Given the description of an element on the screen output the (x, y) to click on. 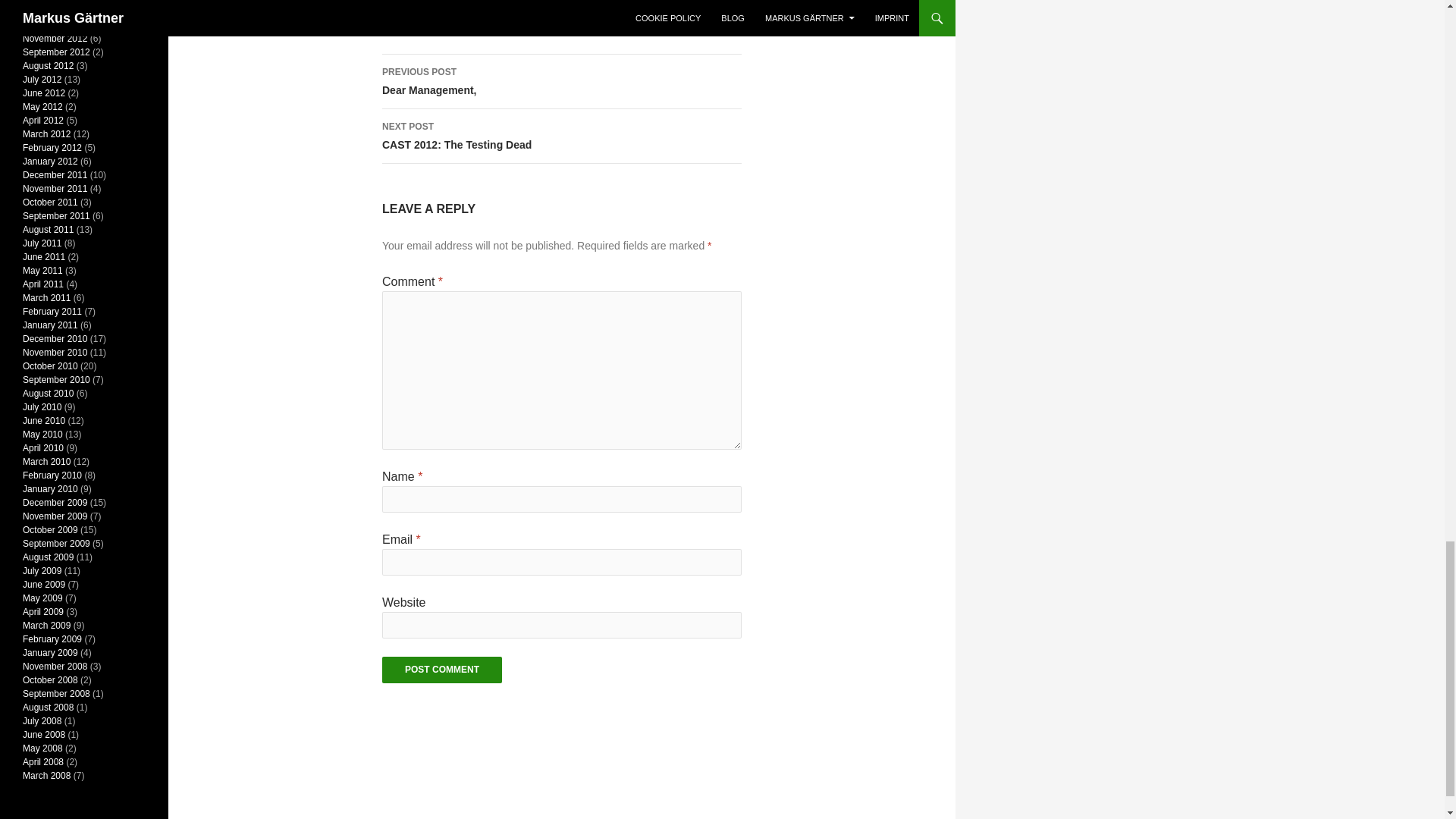
Post Comment (441, 669)
Post Comment (441, 669)
LinkedIn (423, 2)
Google Bookmarks (440, 2)
Print (561, 135)
Twitter (389, 2)
